Given the description of an element on the screen output the (x, y) to click on. 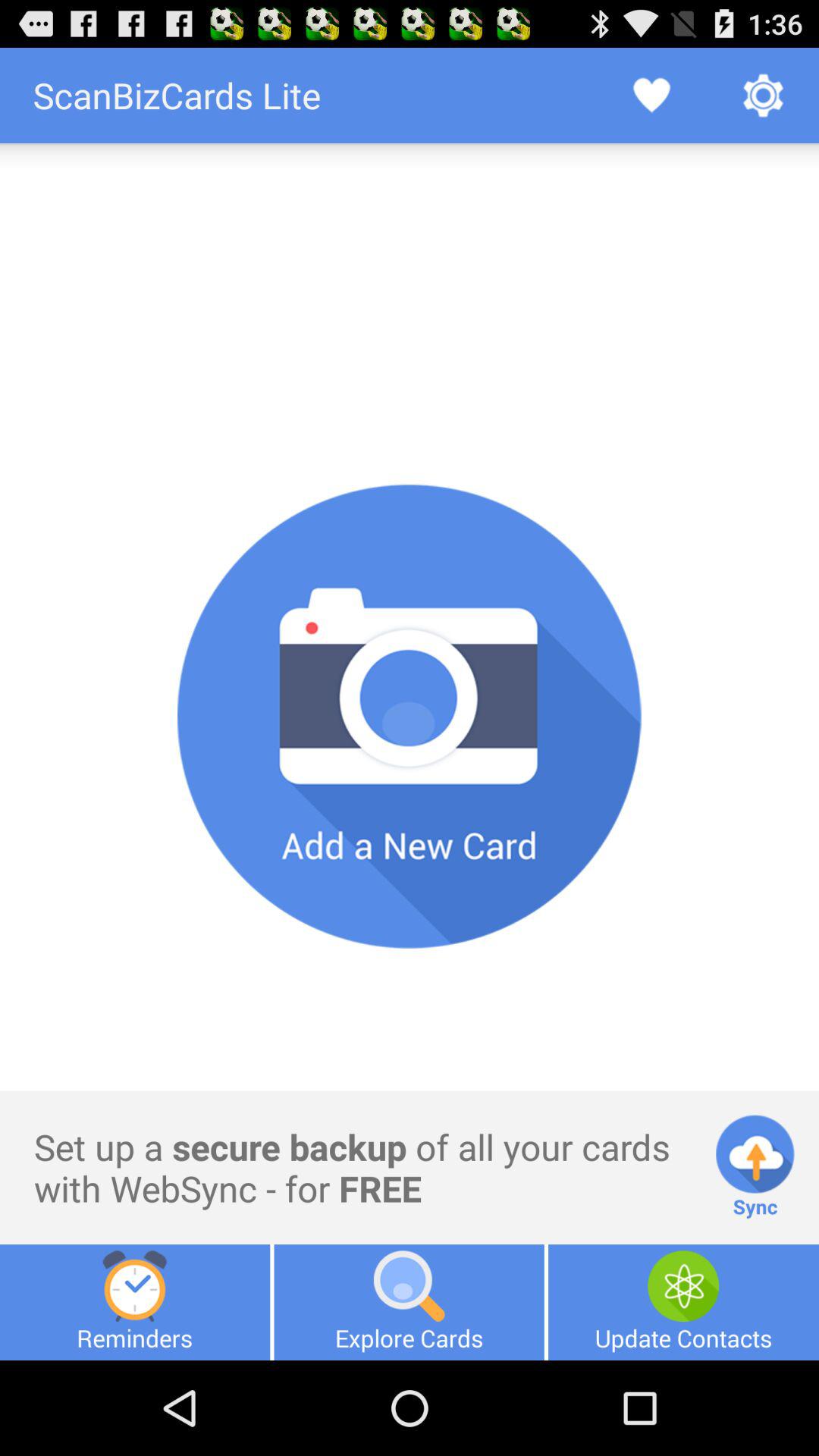
launch item next to the explore cards item (135, 1302)
